Given the description of an element on the screen output the (x, y) to click on. 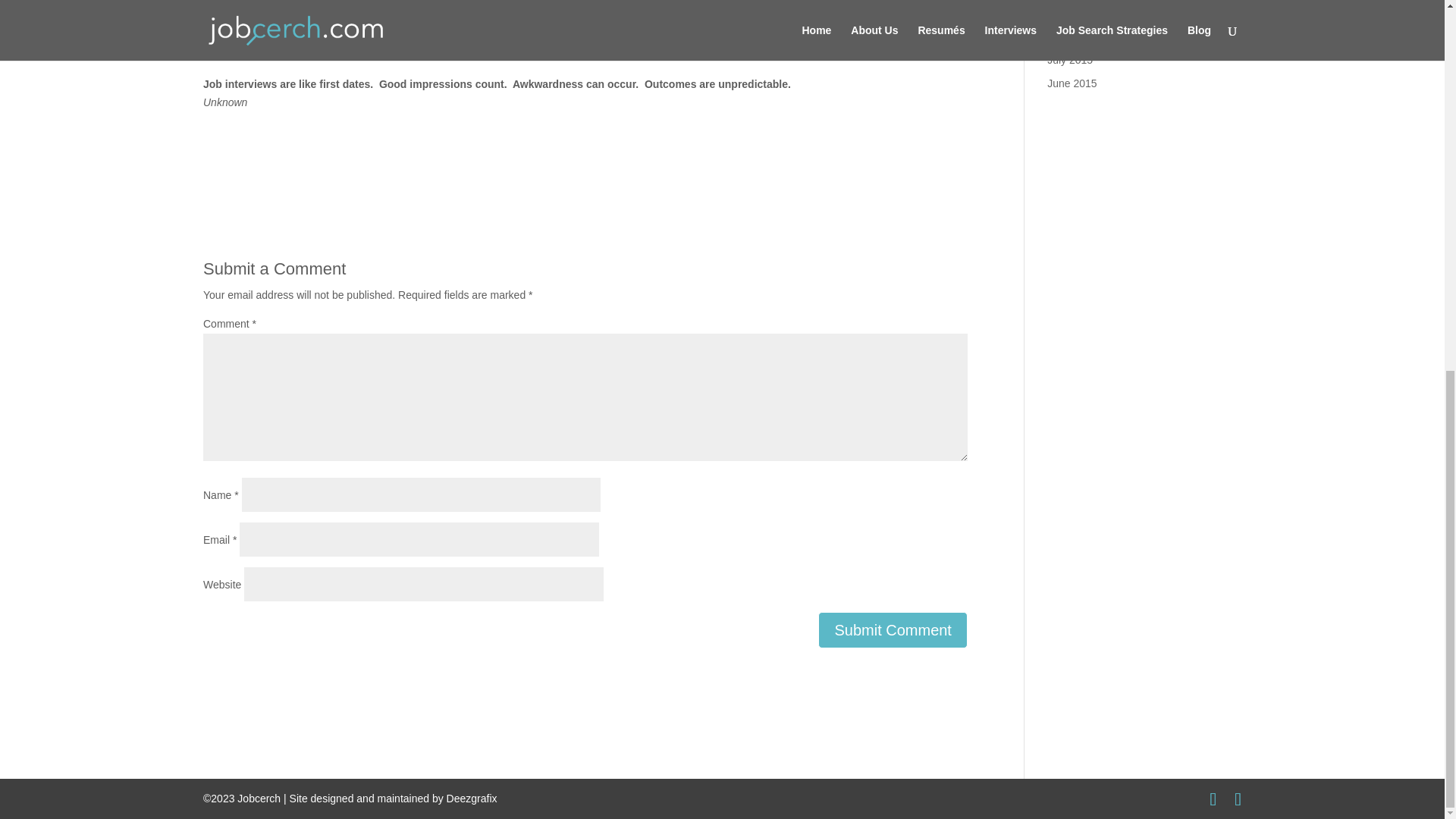
June 2015 (1071, 82)
Submit Comment (893, 629)
September 2015 (1085, 12)
July 2015 (1069, 60)
Submit Comment (893, 629)
August 2015 (1076, 36)
